Given the description of an element on the screen output the (x, y) to click on. 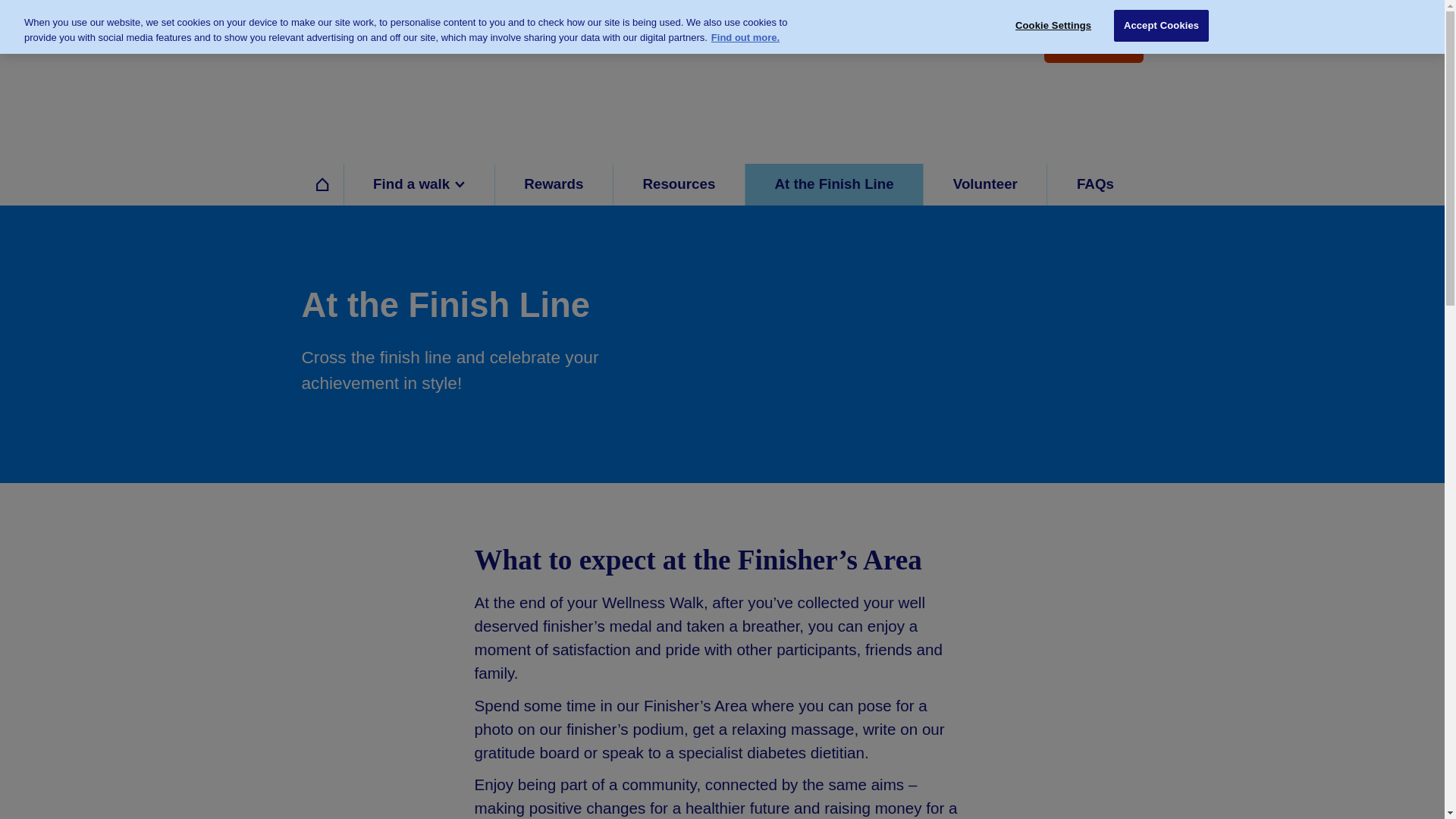
Find a walk (1092, 45)
FAQs (1094, 184)
Resources (678, 184)
At the Finish Line (833, 184)
Home page (384, 79)
Home (322, 184)
Rewards (553, 184)
Find a walk (417, 184)
Volunteer (984, 184)
